Given the description of an element on the screen output the (x, y) to click on. 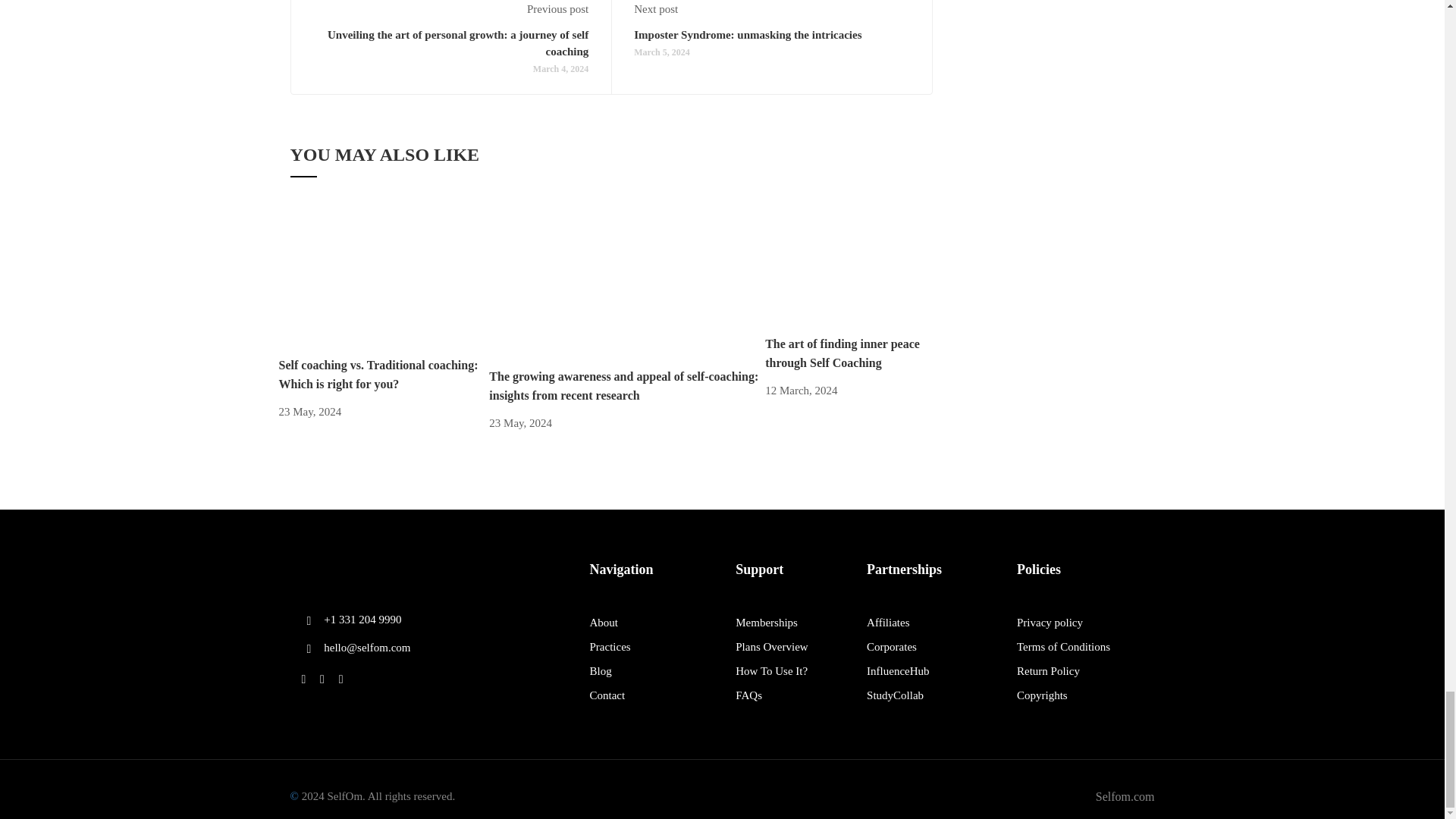
The art of finding inner peace through Self Coaching (854, 265)
concept of self-coaching (602, 283)
logo-white (357, 570)
Finding Inner Peace (854, 267)
Traditional coaching (384, 278)
